Given the description of an element on the screen output the (x, y) to click on. 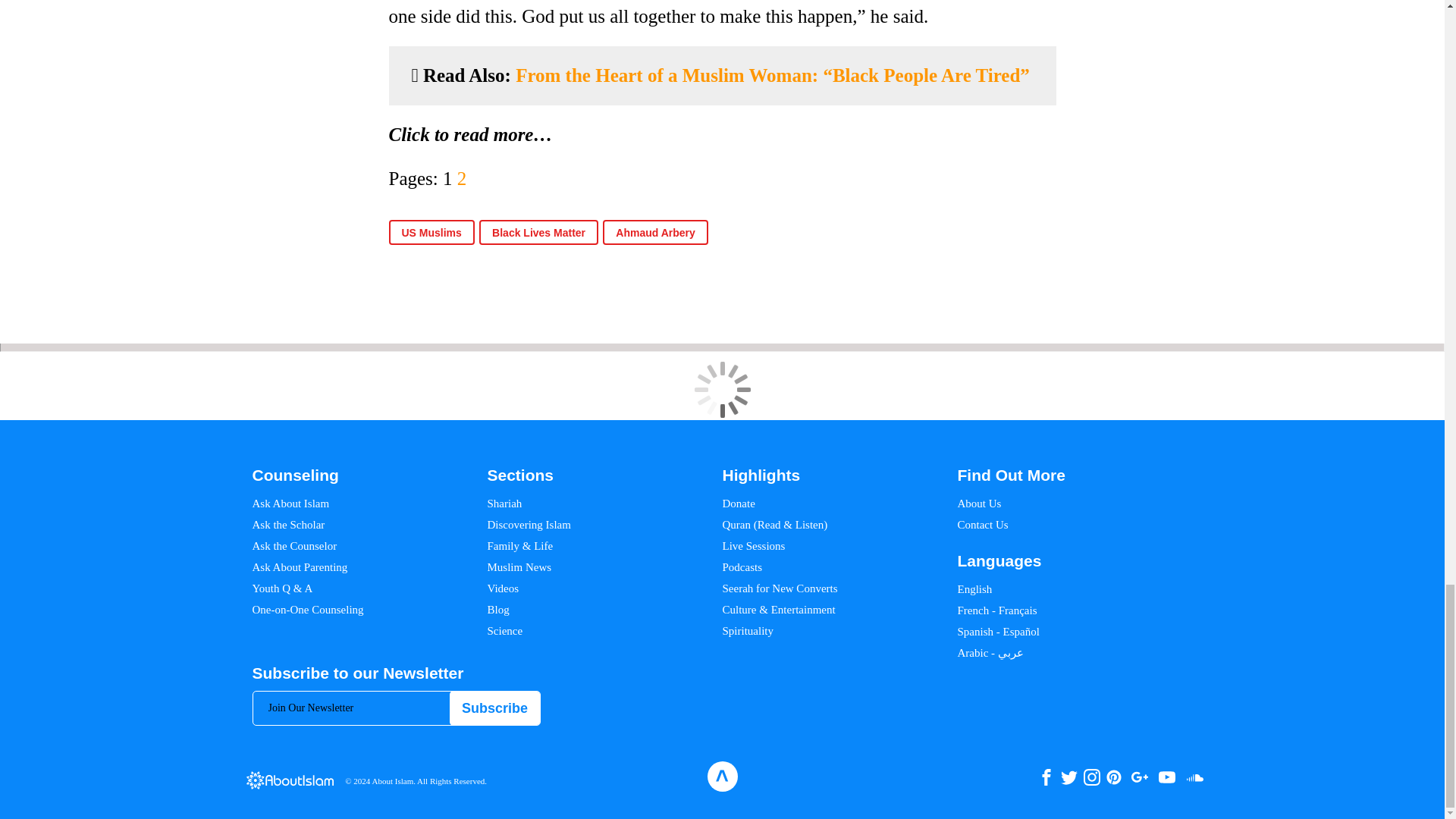
One-on-One Counseling (306, 609)
instagram (1091, 777)
Facebook (1045, 777)
Ask the Scholar (287, 524)
social-1 (1195, 777)
Join Our Newsletter (396, 707)
Ahmaud Arbery Tag (654, 232)
Subscribe (494, 708)
Twitter (1068, 777)
US Muslims (431, 232)
